Given the description of an element on the screen output the (x, y) to click on. 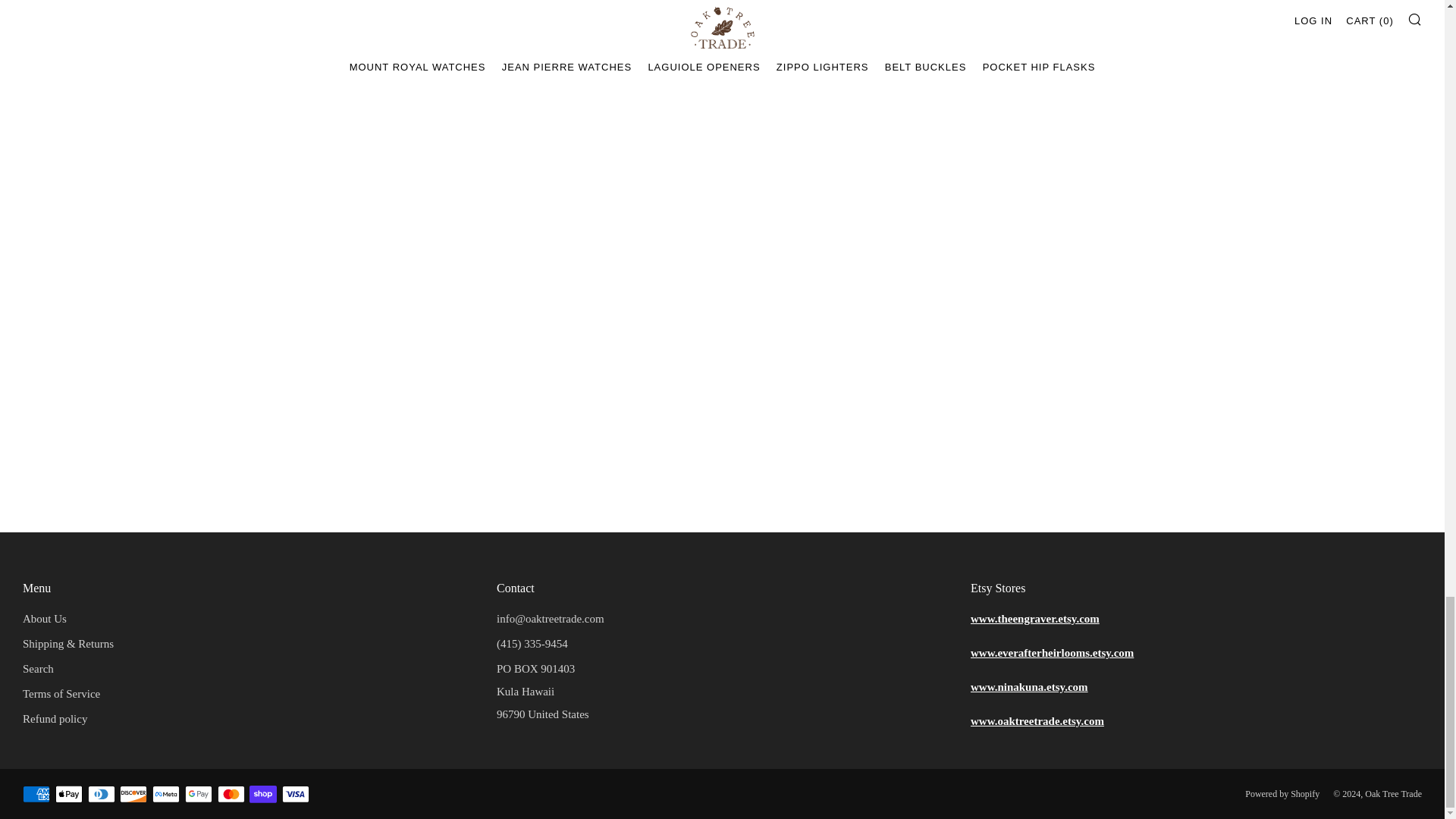
Google Pay (198, 794)
Shop Pay (262, 794)
American Express (36, 794)
Discover (133, 794)
Visa (295, 794)
Diners Club (101, 794)
Apple Pay (68, 794)
Meta Pay (165, 794)
Mastercard (230, 794)
